Given the description of an element on the screen output the (x, y) to click on. 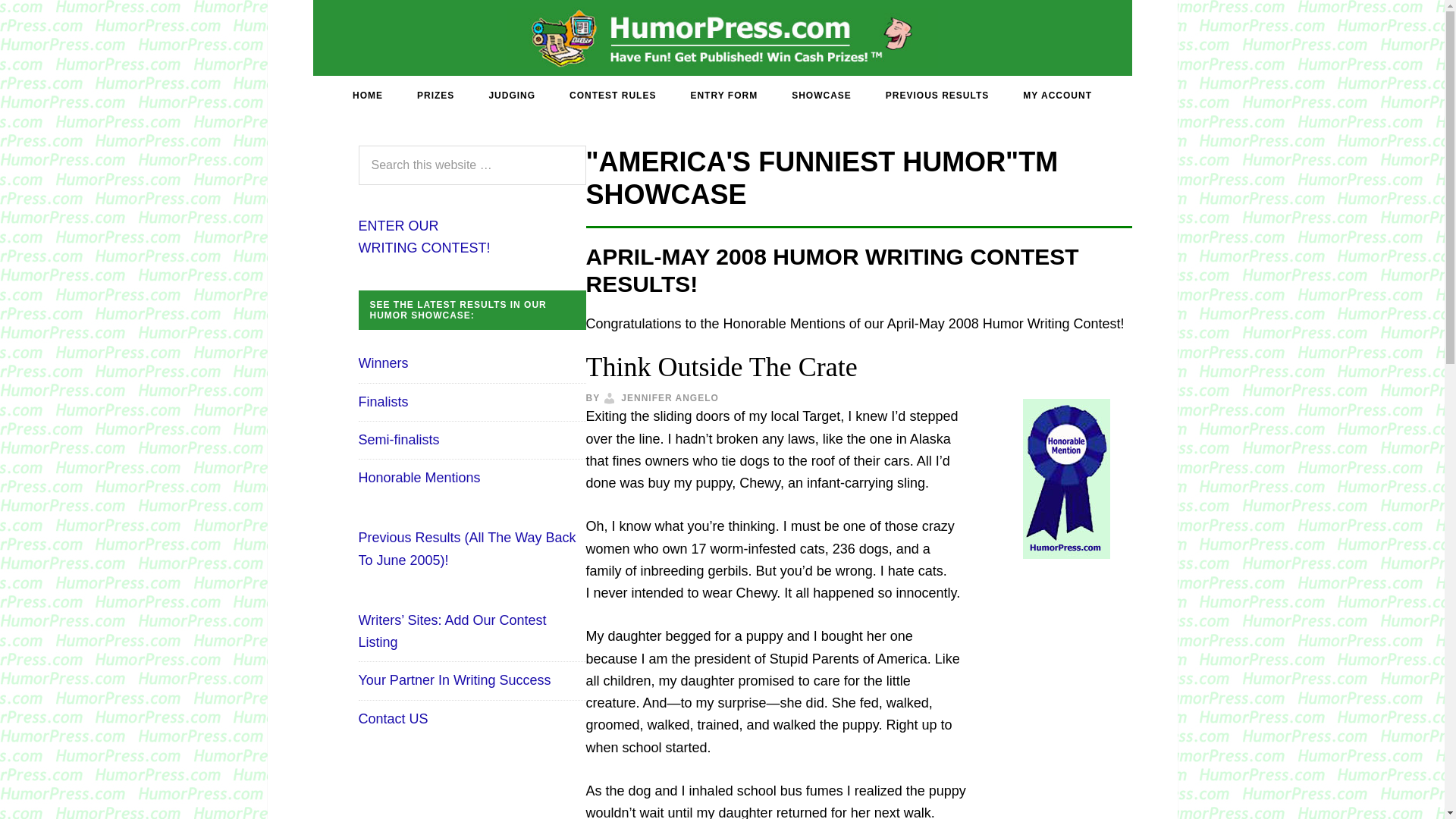
Honorable Mentions (419, 477)
JENNIFER ANGELO (670, 398)
PRIZES (434, 95)
Finalists (382, 401)
ENTRY FORM (724, 95)
JUDGING (511, 95)
Semi-finalists (398, 439)
SHOWCASE (821, 95)
Winners (382, 363)
MY ACCOUNT (423, 236)
Search (1056, 95)
CONTEST RULES (937, 95)
